Given the description of an element on the screen output the (x, y) to click on. 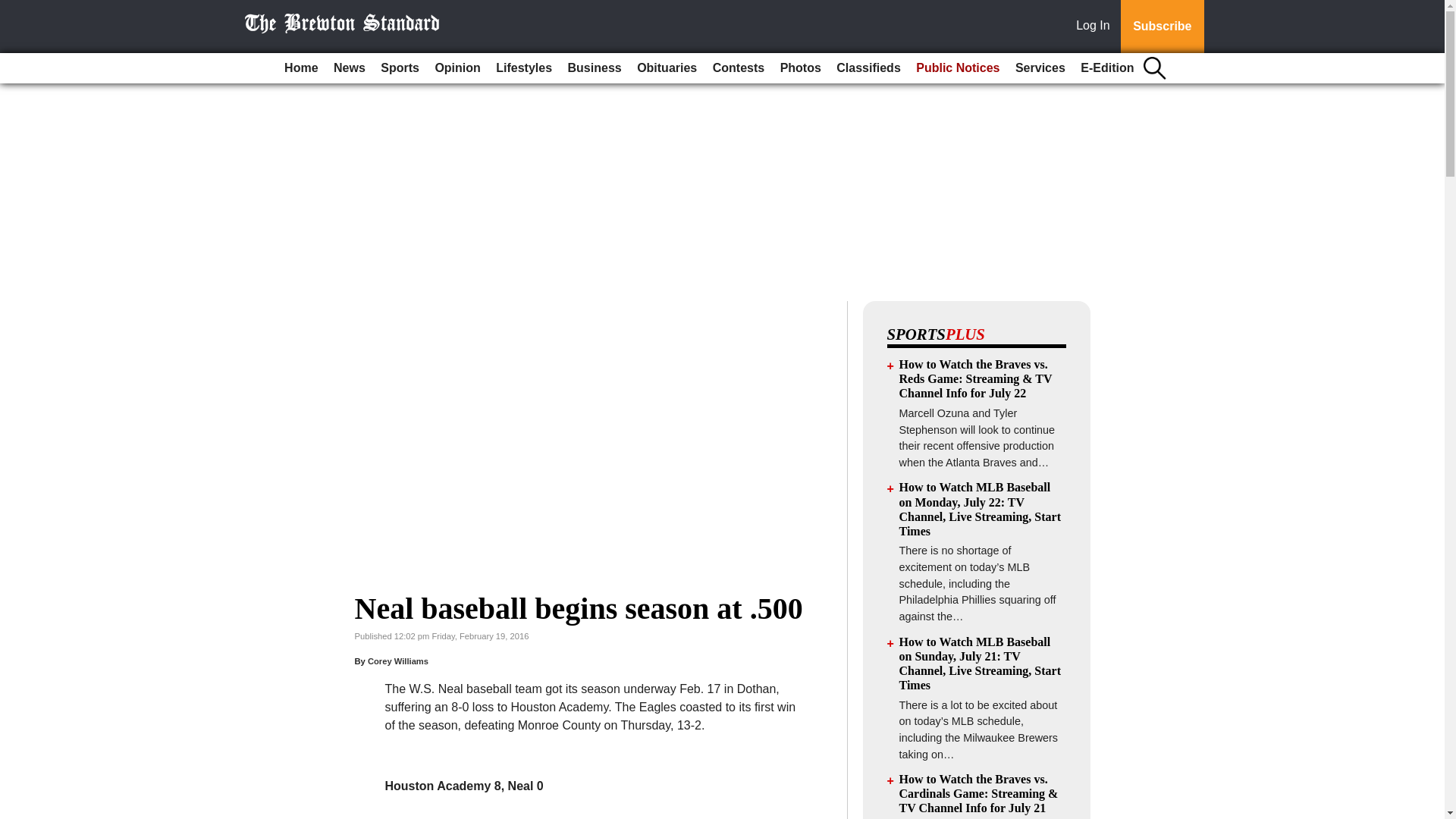
Classifieds (867, 68)
Contests (738, 68)
Home (300, 68)
Sports (399, 68)
Obituaries (666, 68)
Log In (1095, 26)
E-Edition (1107, 68)
Opinion (457, 68)
Public Notices (958, 68)
Subscribe (1162, 26)
Go (13, 9)
Photos (800, 68)
News (349, 68)
Business (594, 68)
Services (1040, 68)
